Given the description of an element on the screen output the (x, y) to click on. 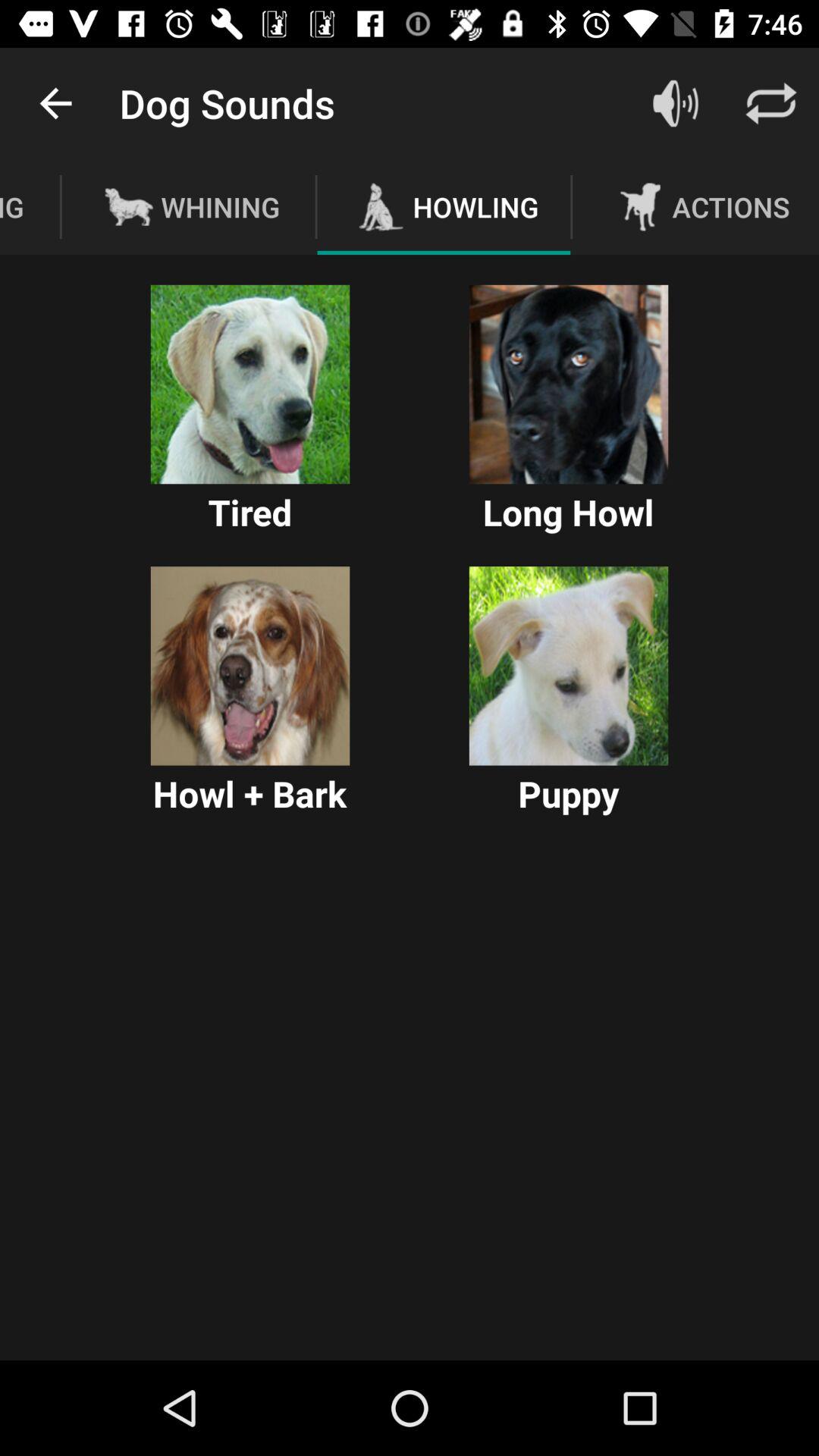
turn on icon next to the dog sounds icon (55, 103)
